Given the description of an element on the screen output the (x, y) to click on. 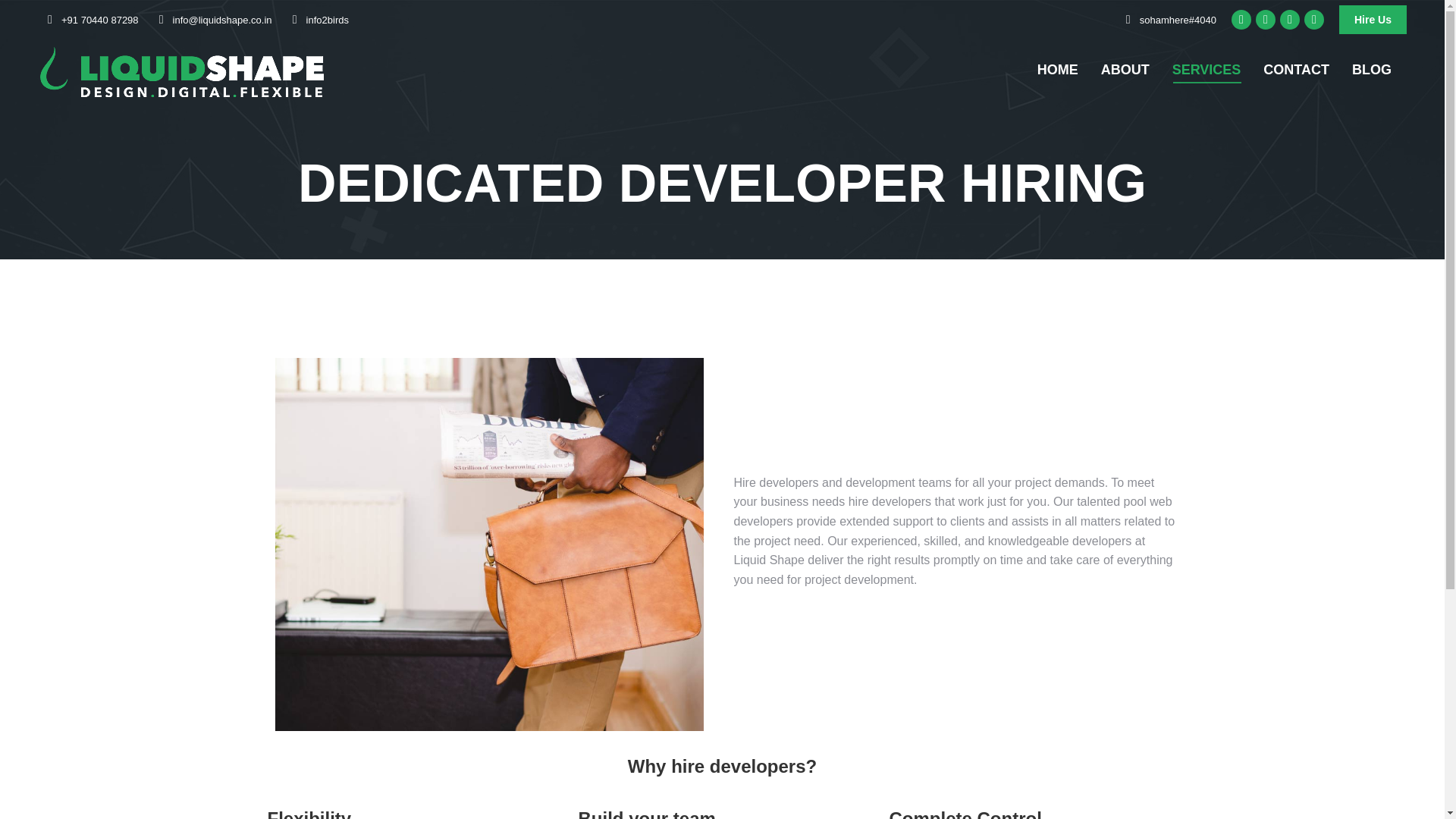
Facebook page opens in new window (1240, 19)
ABOUT (1125, 69)
Hire Us (1372, 19)
Facebook page opens in new window (1240, 19)
Twitter page opens in new window (1289, 19)
Linkedin page opens in new window (1313, 19)
SERVICES (1206, 69)
CONTACT (1296, 69)
Twitter page opens in new window (1289, 19)
Instagram page opens in new window (1265, 19)
